Given the description of an element on the screen output the (x, y) to click on. 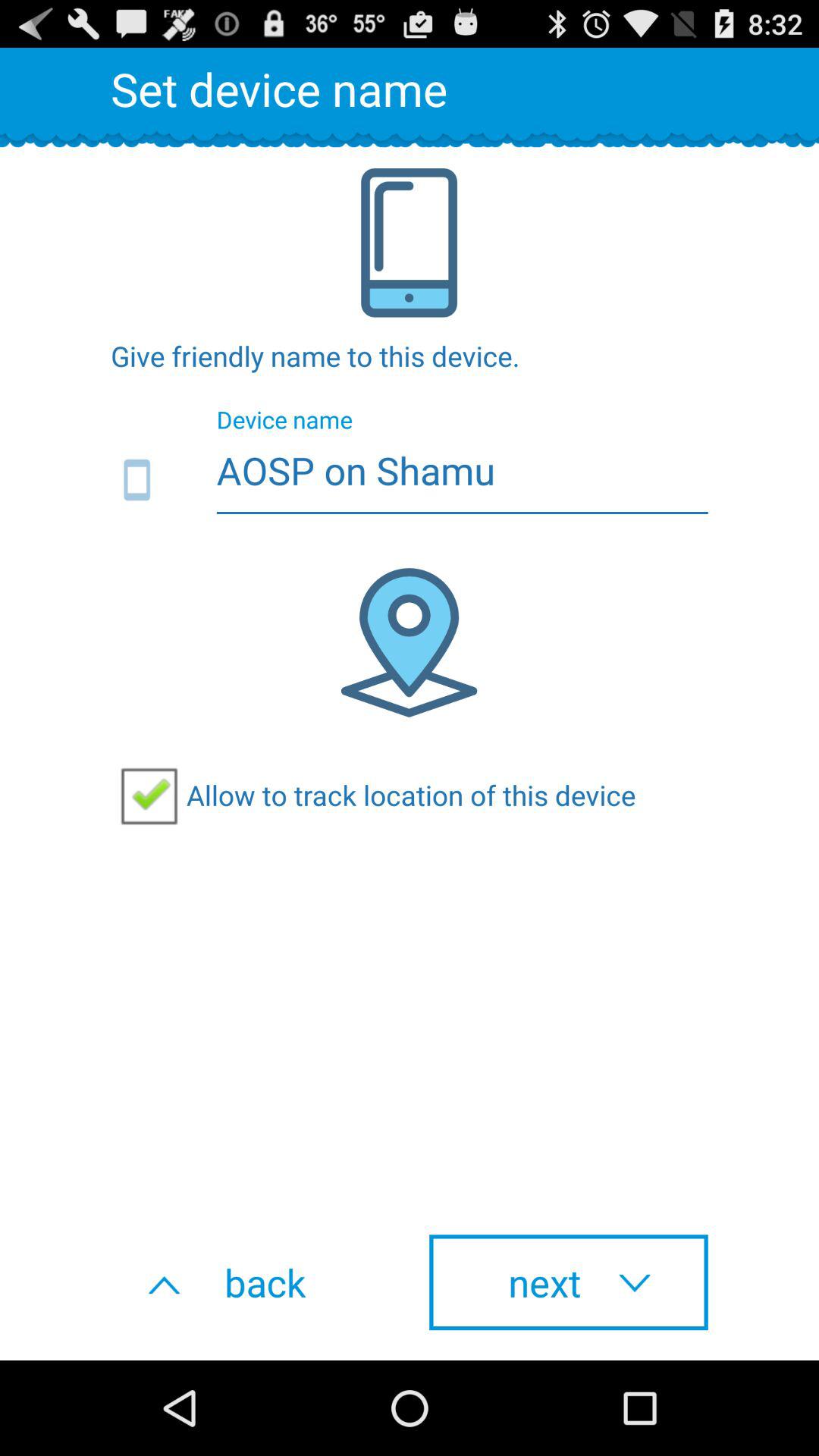
open item at the bottom right corner (568, 1282)
